Given the description of an element on the screen output the (x, y) to click on. 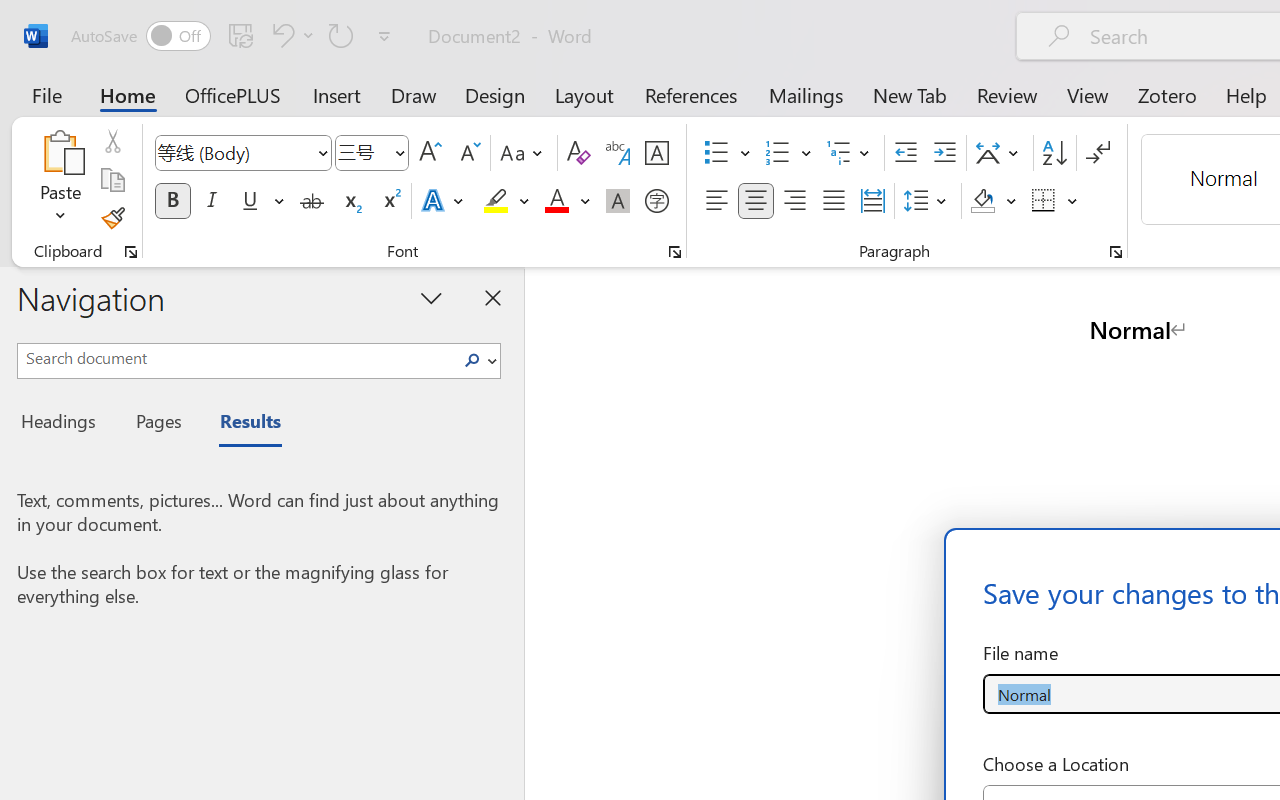
Font (242, 153)
Clear Formatting (578, 153)
Search document (236, 358)
Line and Paragraph Spacing (927, 201)
Font Size (372, 153)
Grow Font (430, 153)
Review (1007, 94)
Italic (212, 201)
Increase Indent (944, 153)
Shading (993, 201)
Center (756, 201)
Search (471, 360)
Draw (413, 94)
